Given the description of an element on the screen output the (x, y) to click on. 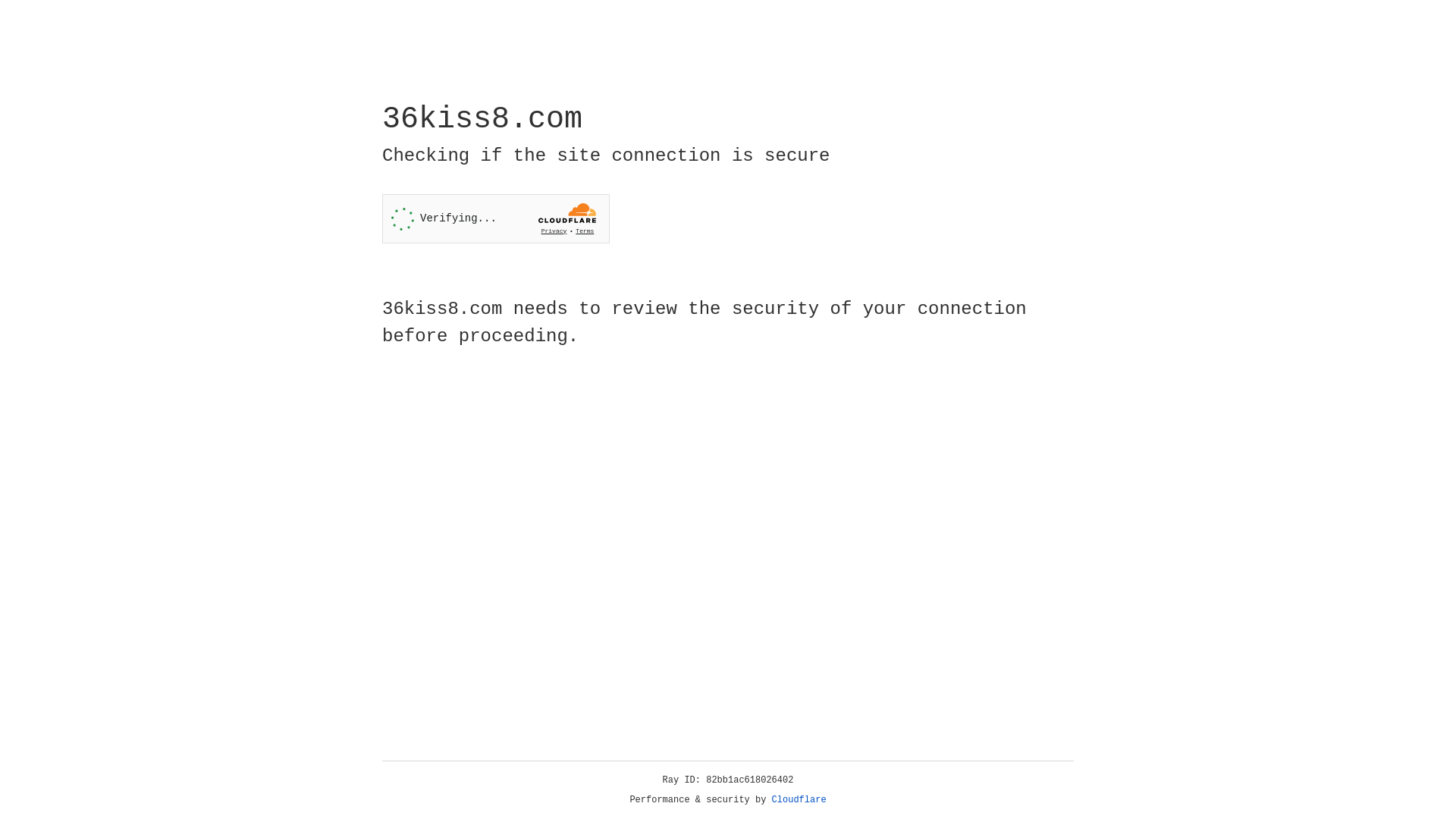
Cloudflare Element type: text (798, 799)
Widget containing a Cloudflare security challenge Element type: hover (495, 218)
